Given the description of an element on the screen output the (x, y) to click on. 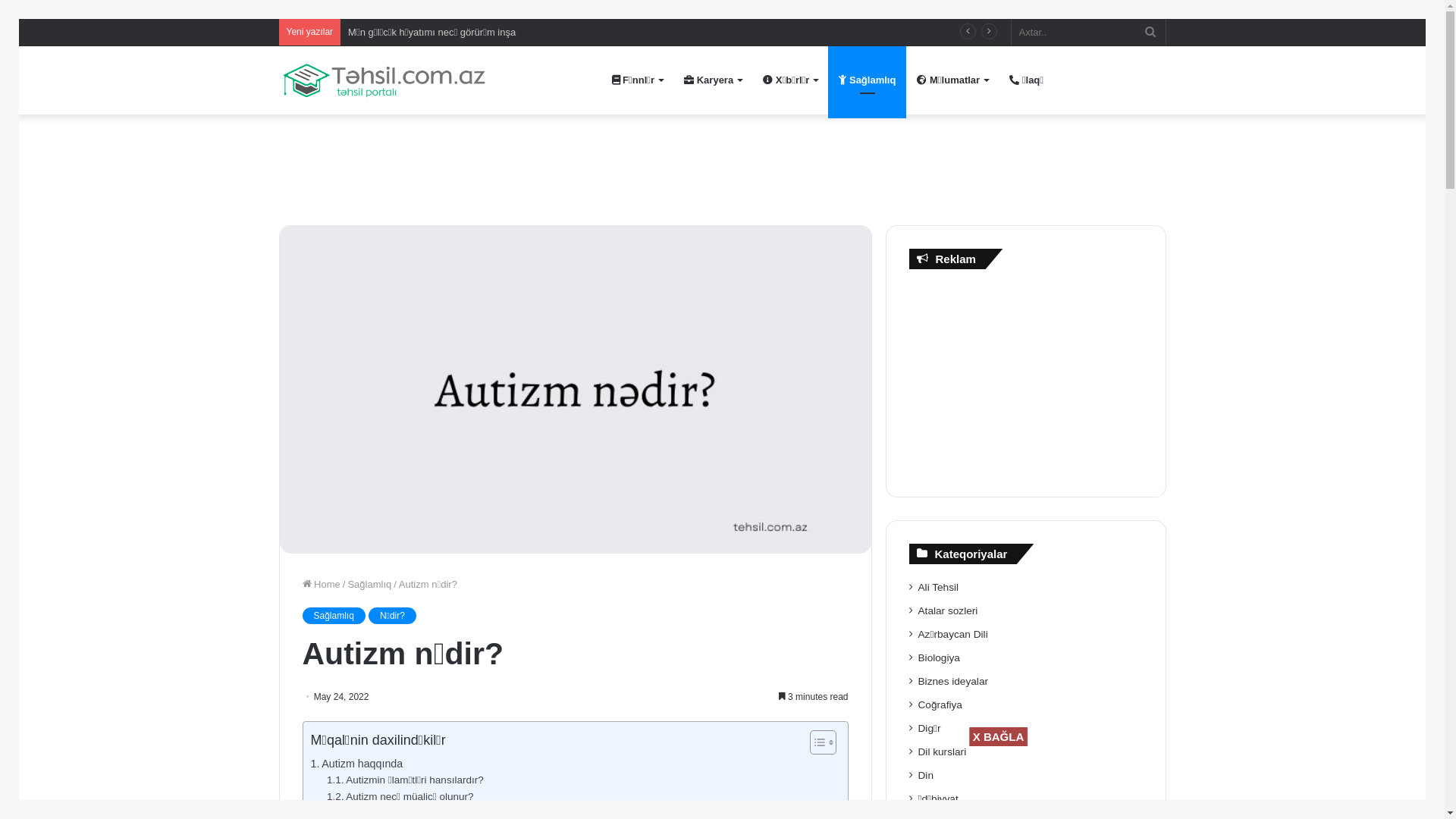
Advertisement Element type: hover (721, 163)
Ali Tehsil Element type: text (938, 587)
Atalar sozleri Element type: text (948, 610)
Yarasa haqqinda melumat Element type: text (405, 31)
Axtar.. Element type: hover (1088, 31)
Dil kurslari Element type: text (942, 751)
Home Element type: text (320, 583)
Karyera Element type: text (712, 80)
Biznes ideyalar Element type: text (953, 681)
Biologiya Element type: text (939, 657)
Axtar.. Element type: text (1149, 31)
Din Element type: text (925, 775)
Advertisement Element type: hover (751, 780)
Advertisement Element type: hover (1025, 378)
